Given the description of an element on the screen output the (x, y) to click on. 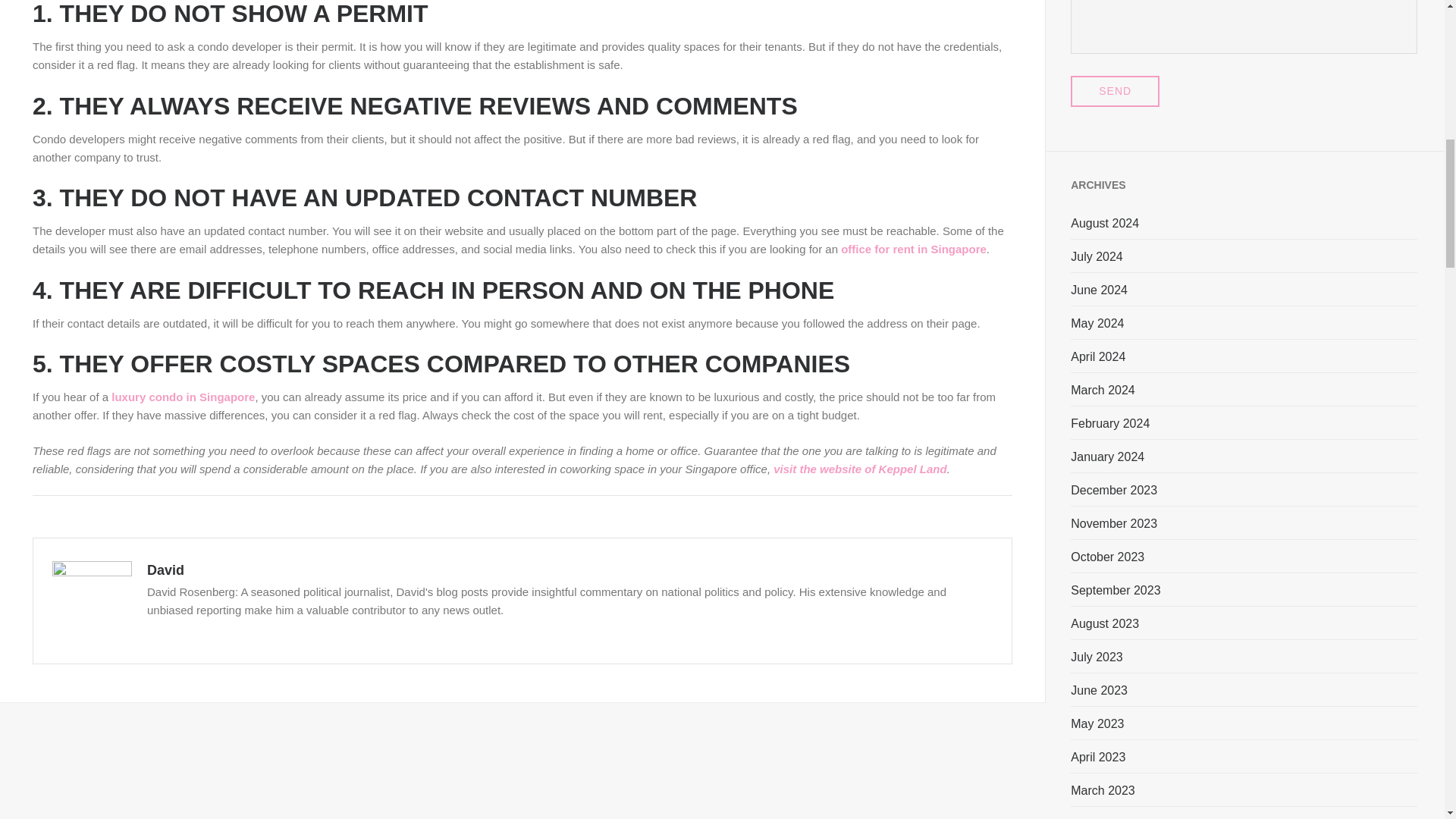
March 2024 (1102, 390)
January 2024 (1107, 457)
May 2024 (1097, 323)
office for rent in Singapore (914, 248)
visit the website of Keppel Land (859, 468)
April 2023 (1097, 757)
August 2024 (1104, 223)
July 2023 (1096, 657)
February 2024 (1110, 423)
May 2023 (1097, 723)
